Given the description of an element on the screen output the (x, y) to click on. 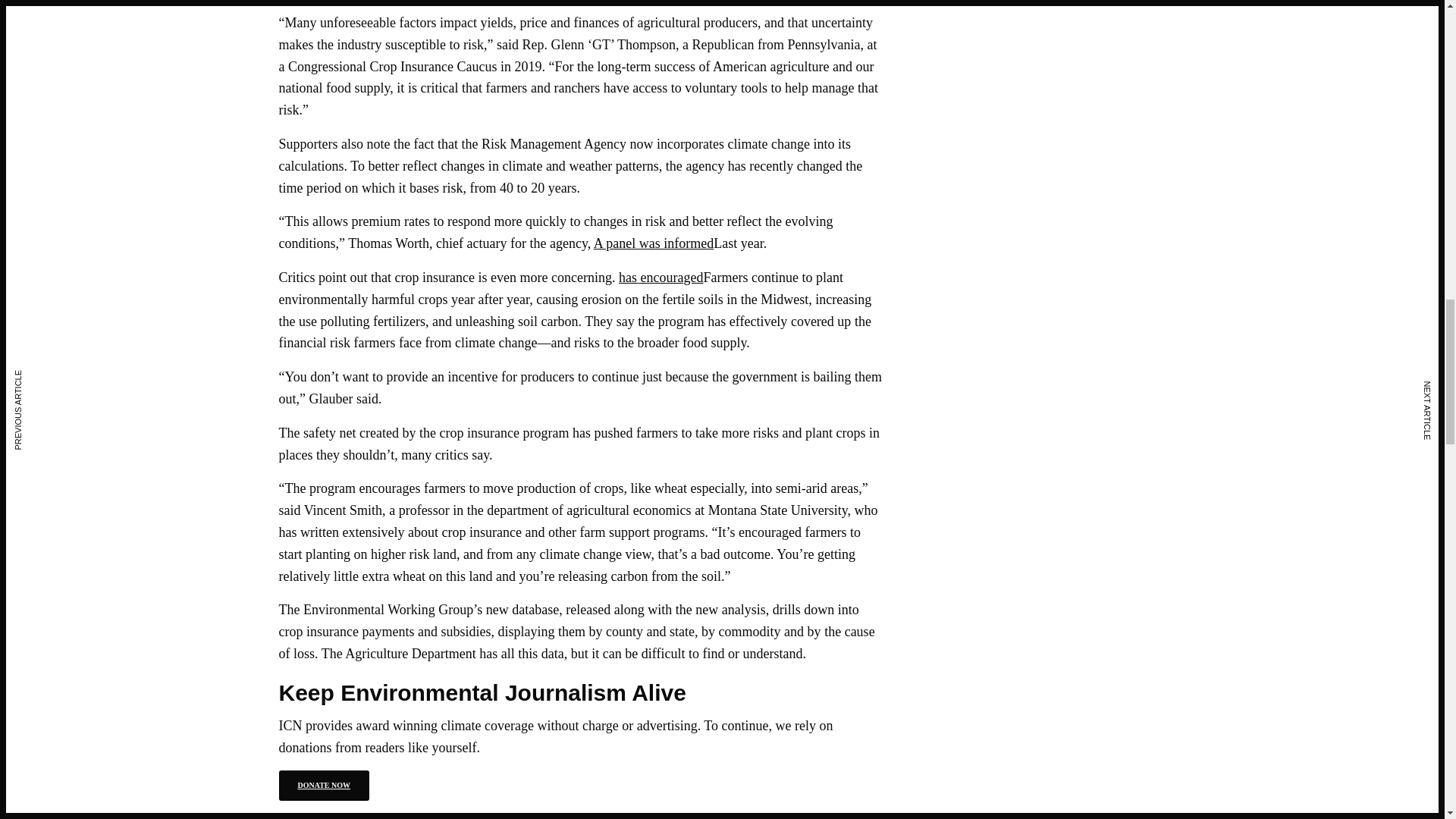
DONATE NOW (324, 785)
has encouraged (660, 277)
A panel was informed (654, 242)
